Given the description of an element on the screen output the (x, y) to click on. 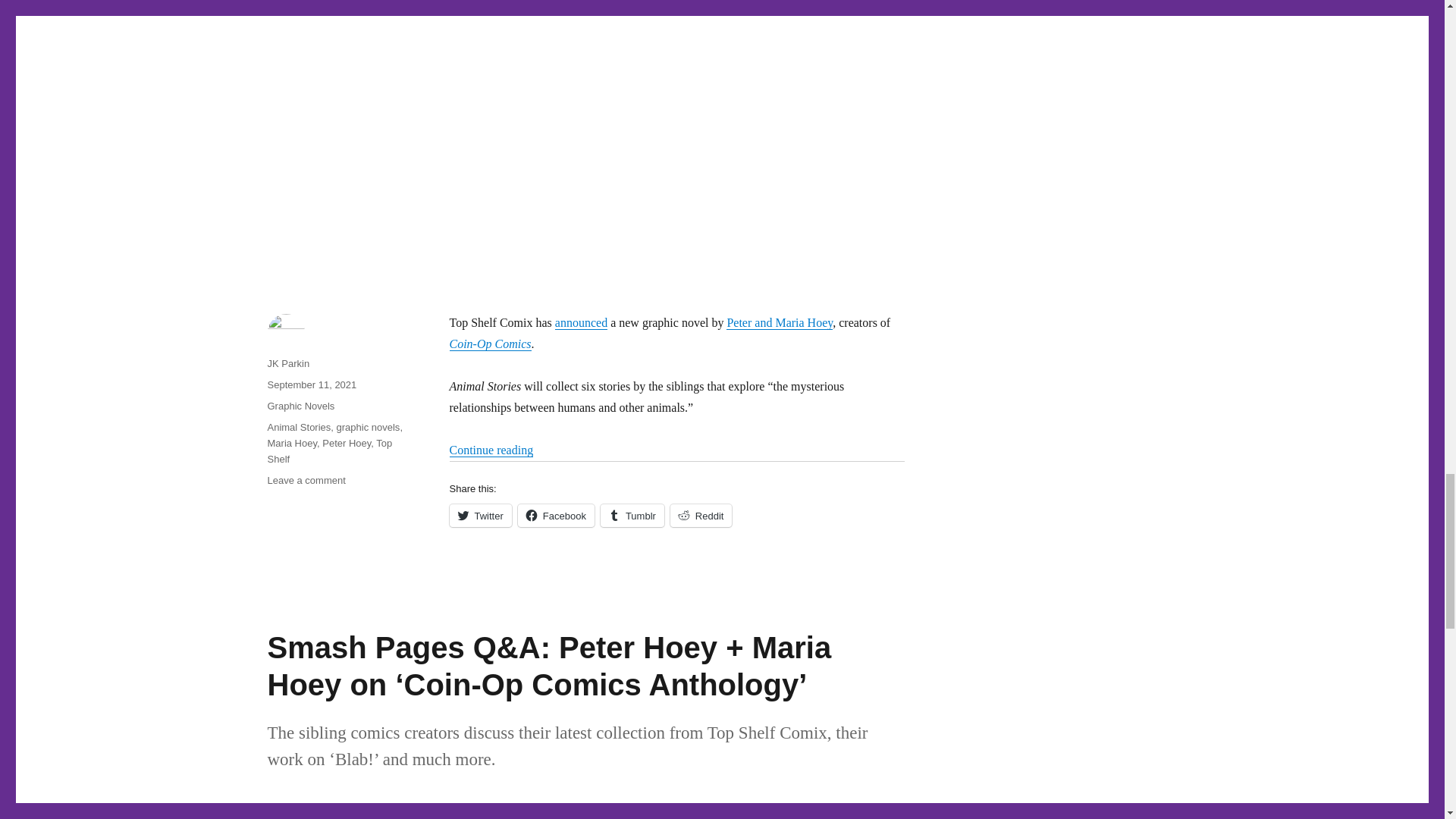
Click to share on Tumblr (631, 515)
Click to share on Twitter (479, 515)
Click to share on Facebook (556, 515)
Click to share on Reddit (700, 515)
